Given the description of an element on the screen output the (x, y) to click on. 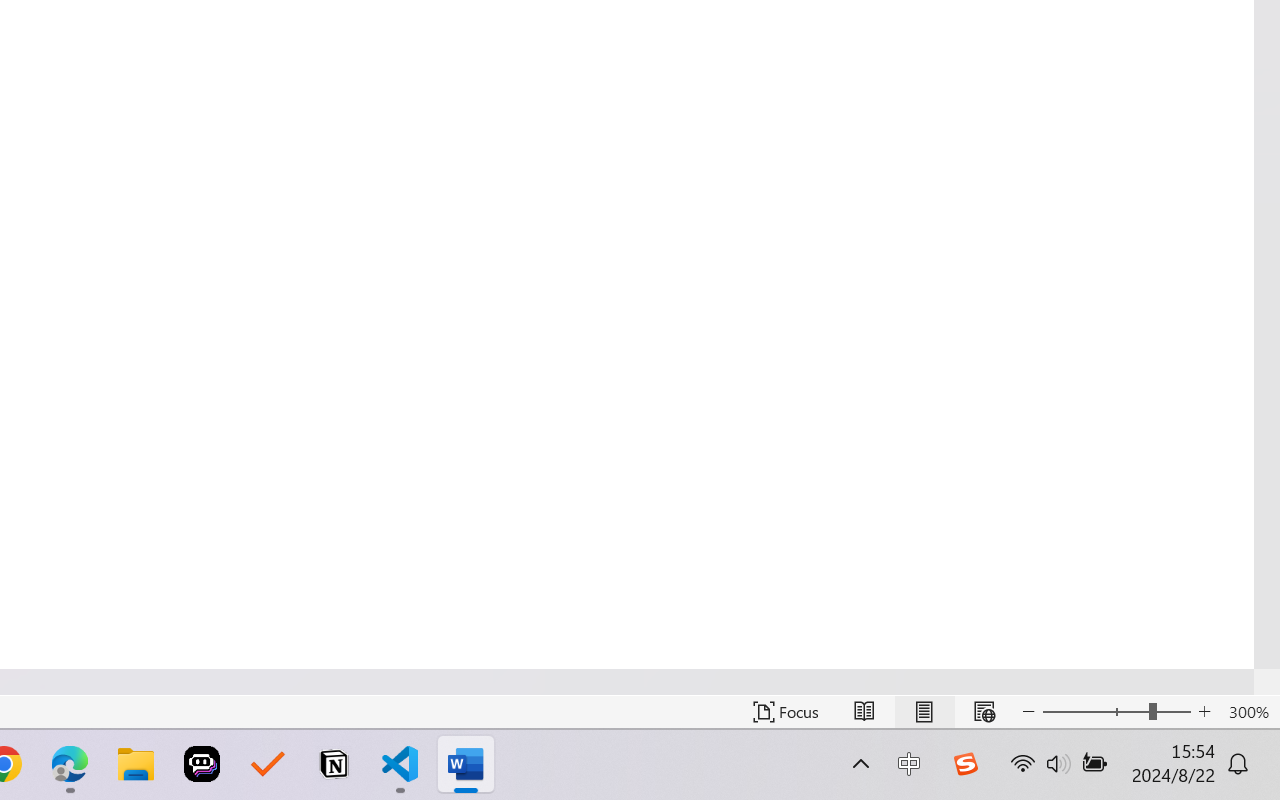
Zoom (1116, 712)
Zoom 300% (1249, 712)
Web Layout (984, 712)
Zoom Out (1095, 712)
Class: Image (965, 764)
Print Layout (924, 712)
Read Mode (864, 712)
Focus  (786, 712)
Zoom In (1204, 712)
